Given the description of an element on the screen output the (x, y) to click on. 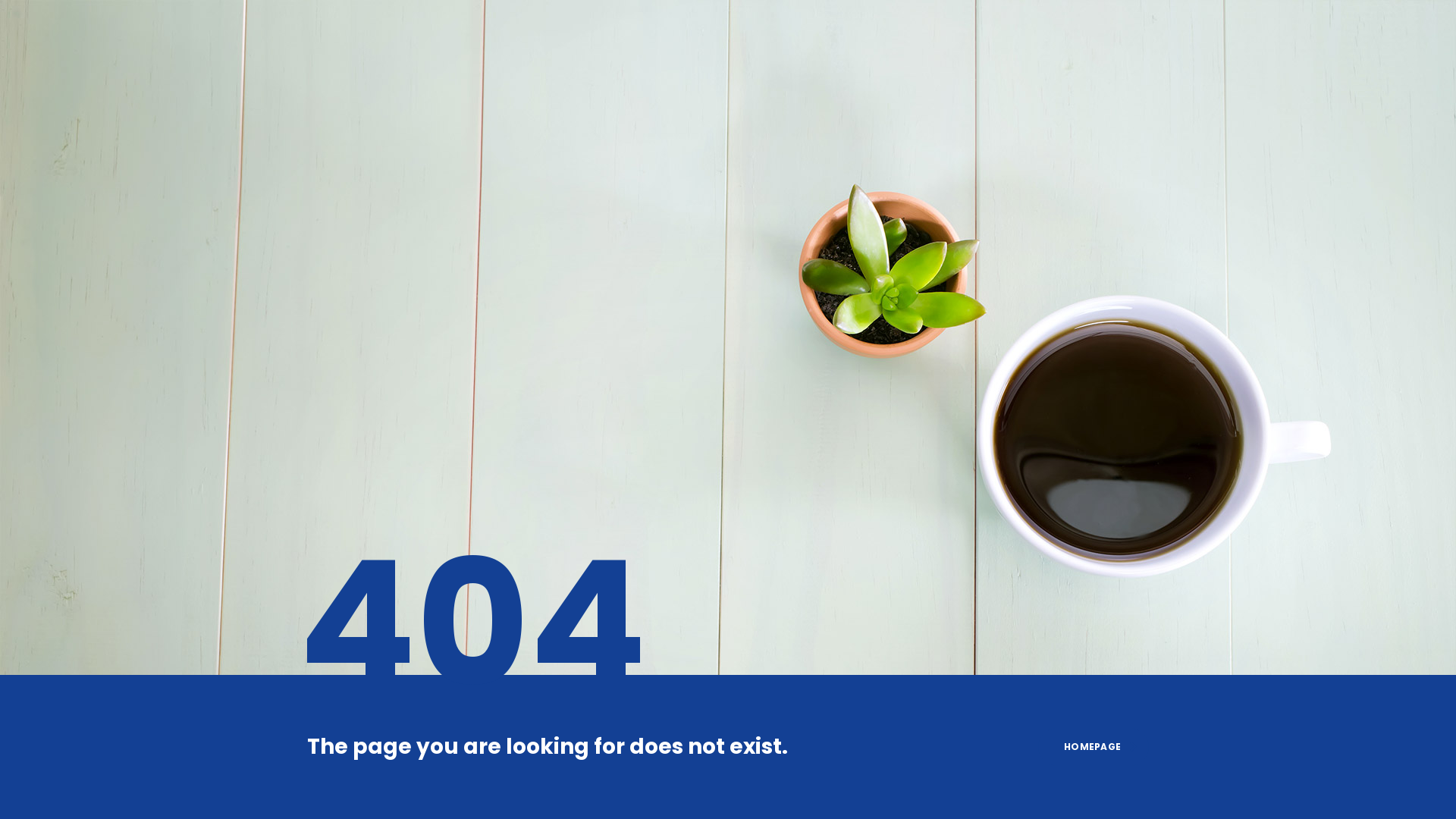
HOMEPAGE Element type: text (1093, 746)
